Given the description of an element on the screen output the (x, y) to click on. 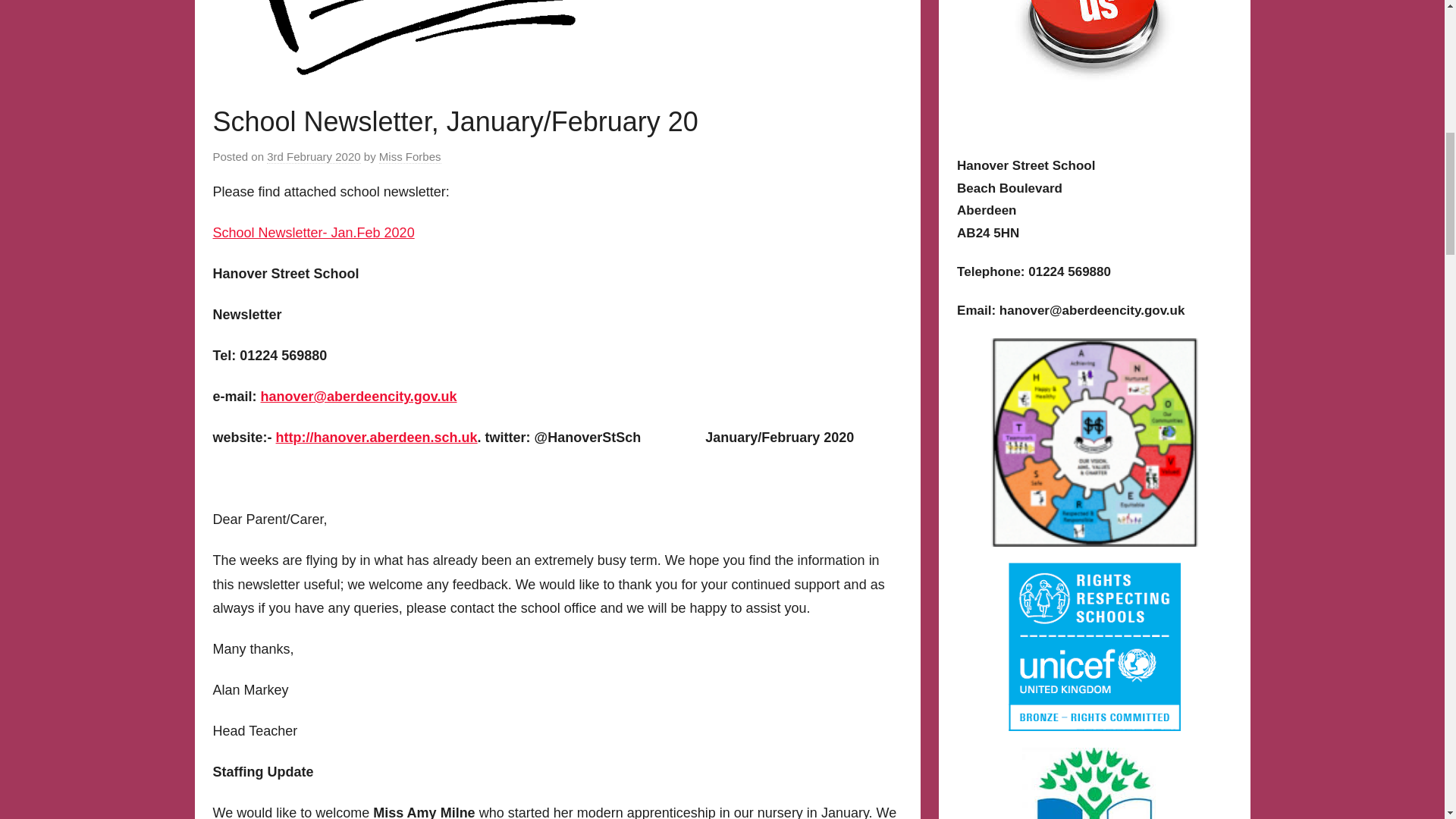
View all posts by Miss Forbes (409, 156)
